Given the description of an element on the screen output the (x, y) to click on. 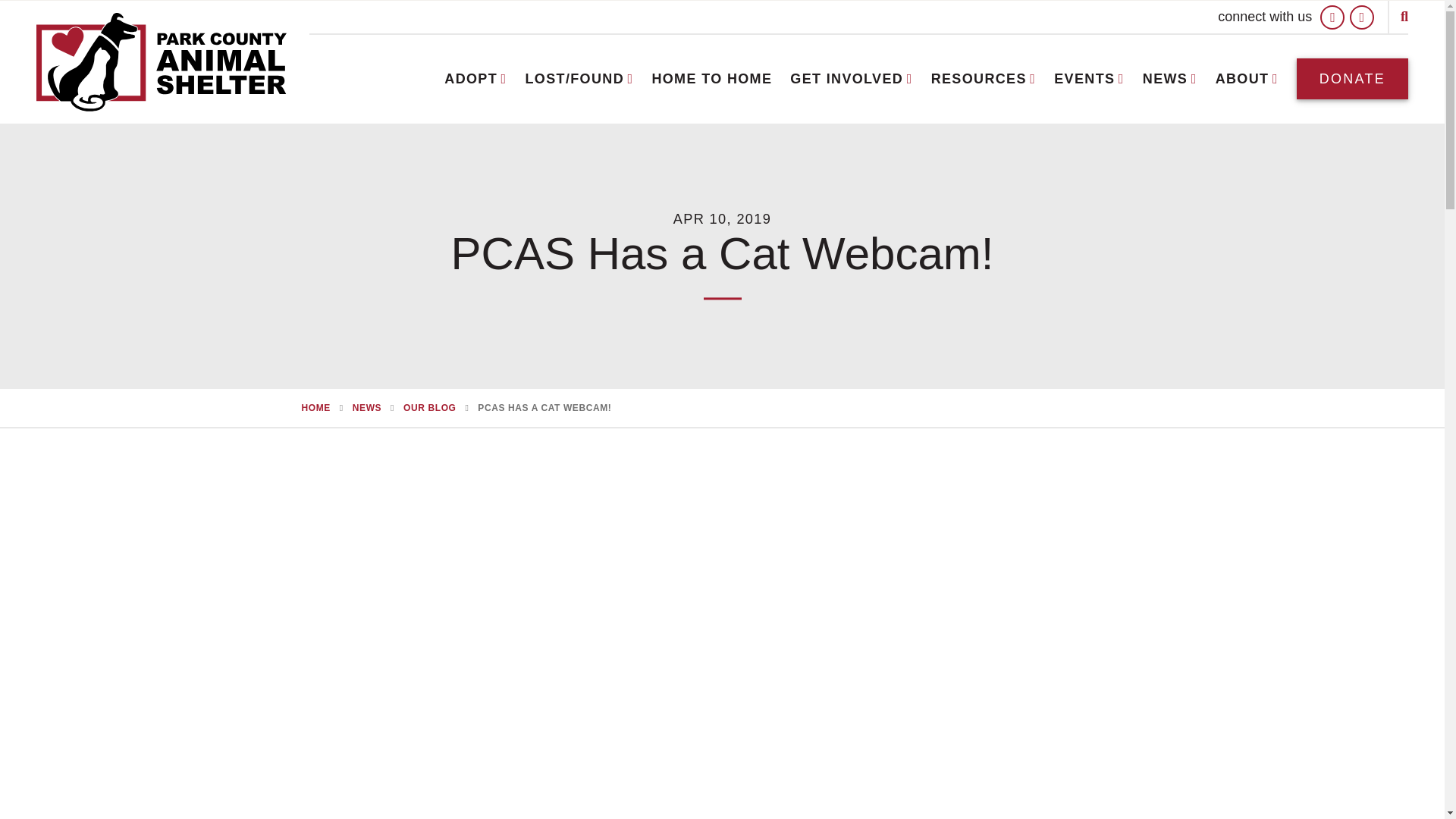
EVENTS (1089, 79)
RESOURCES (983, 79)
ADOPT (475, 79)
GET INVOLVED (851, 79)
NEWS (1169, 79)
Home To Home (710, 79)
Adopt (475, 79)
Park County Animal Shelter (161, 60)
Get Involved (851, 79)
HOME TO HOME (710, 79)
